Given the description of an element on the screen output the (x, y) to click on. 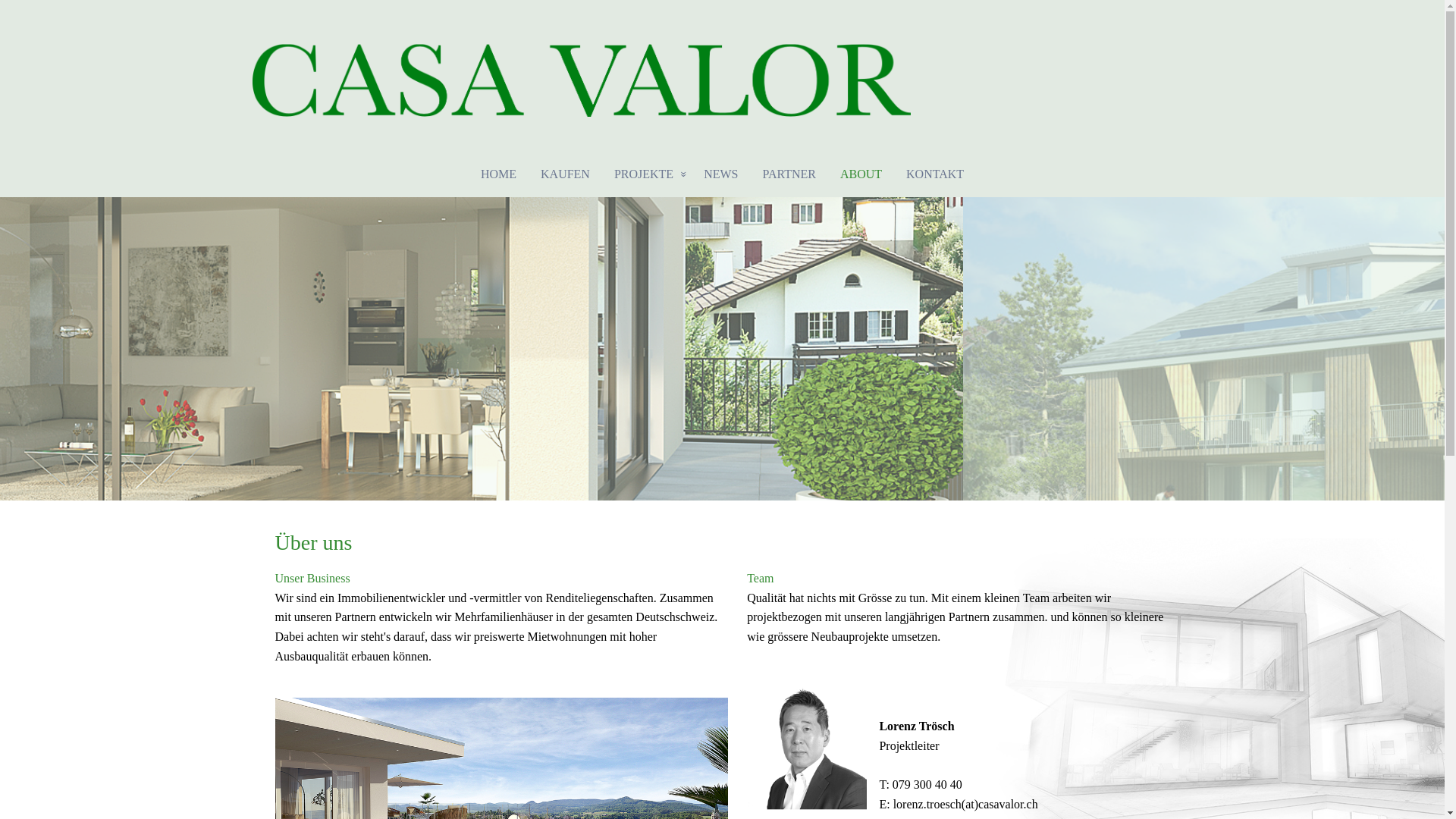
KONTAKT Element type: text (941, 174)
ABOUT Element type: text (861, 174)
PROJEKTE Element type: text (646, 174)
PARTNER Element type: text (788, 174)
HOME Element type: text (492, 174)
KAUFEN Element type: text (565, 174)
NEWS Element type: text (720, 174)
